Given the description of an element on the screen output the (x, y) to click on. 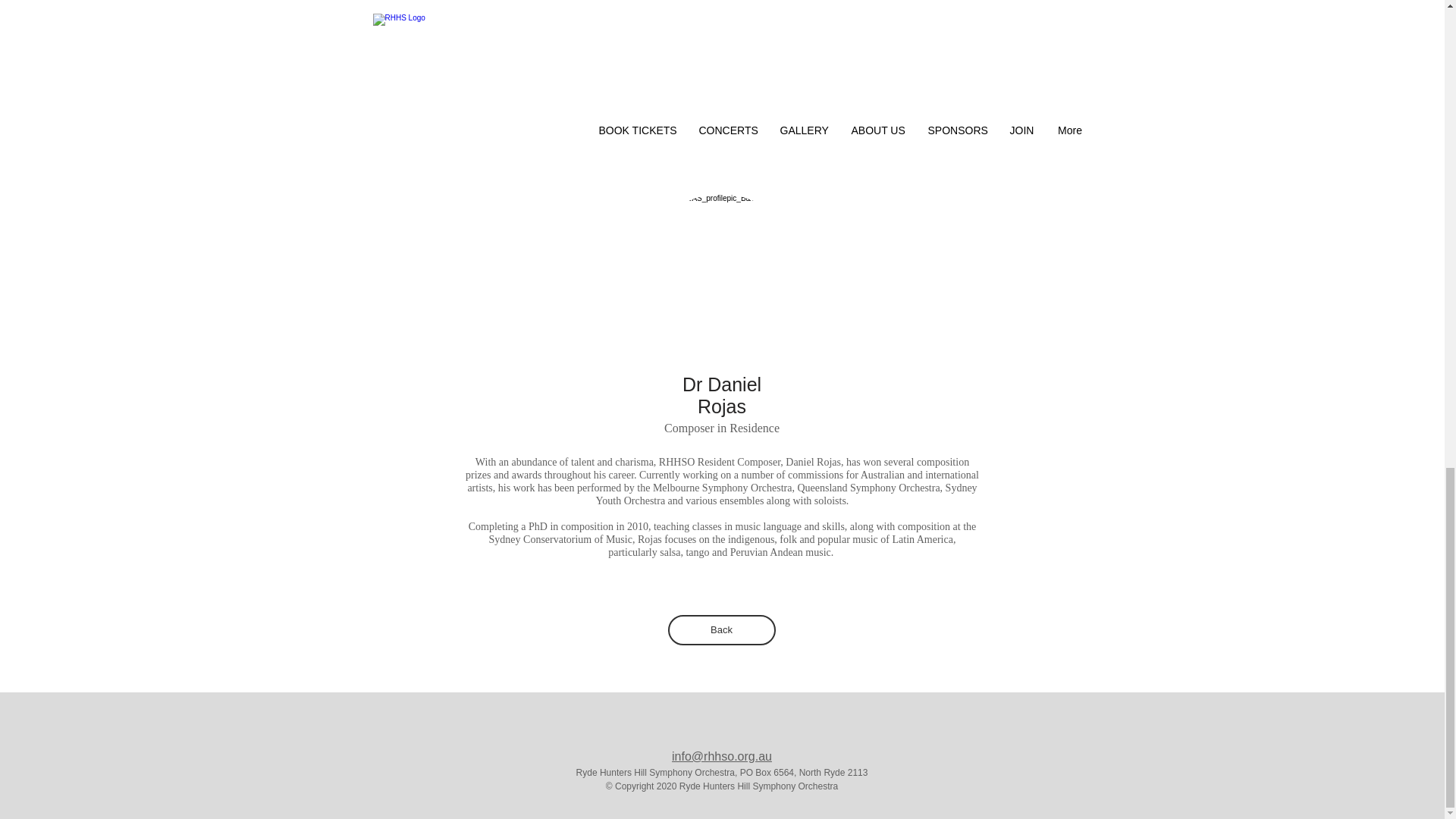
guy2.jpg (720, 276)
Back (720, 630)
